Given the description of an element on the screen output the (x, y) to click on. 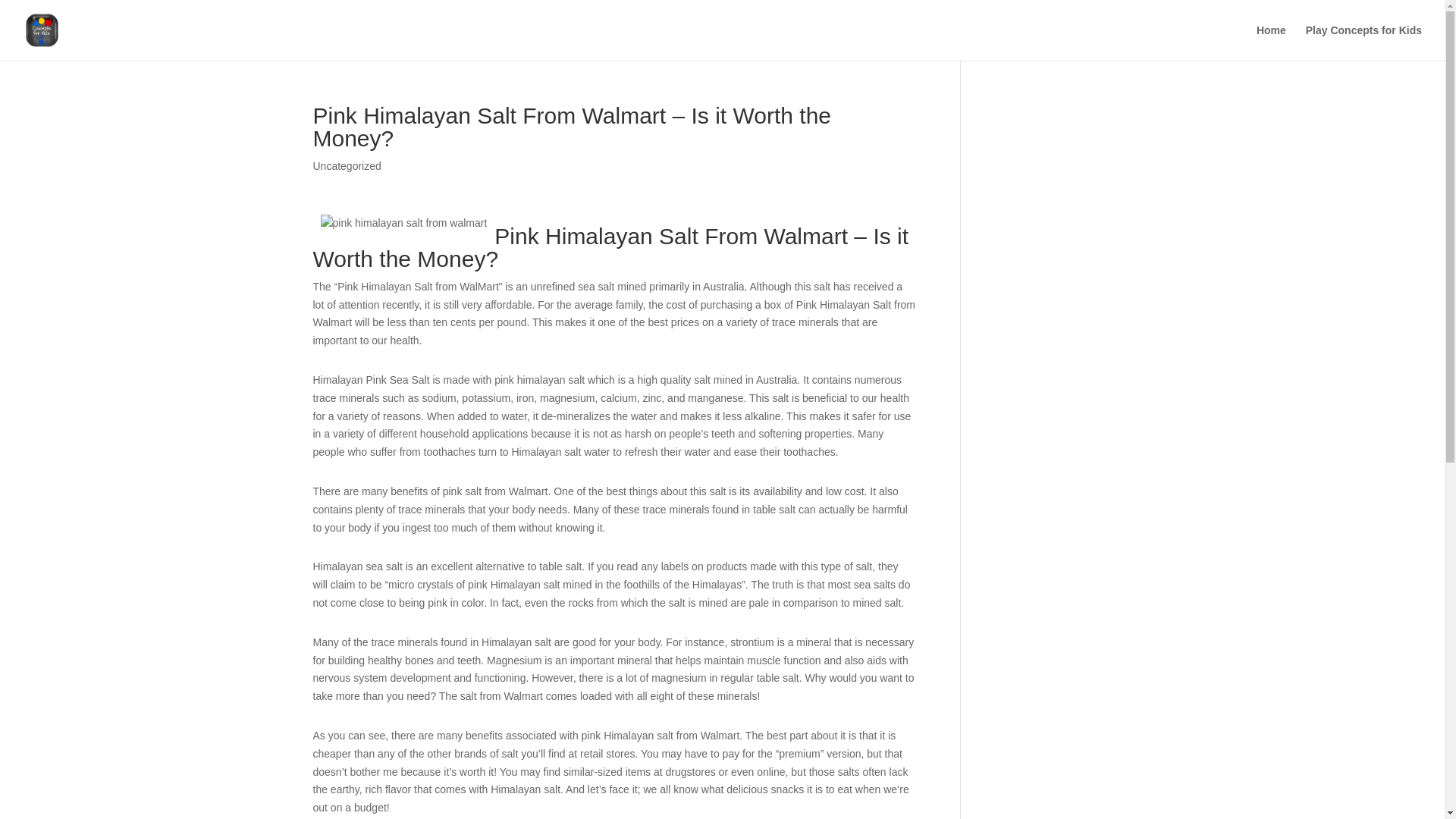
Uncategorized (346, 165)
Pink Himalayan Salt From Walmart (671, 235)
Play Concepts for Kids (1364, 42)
